Given the description of an element on the screen output the (x, y) to click on. 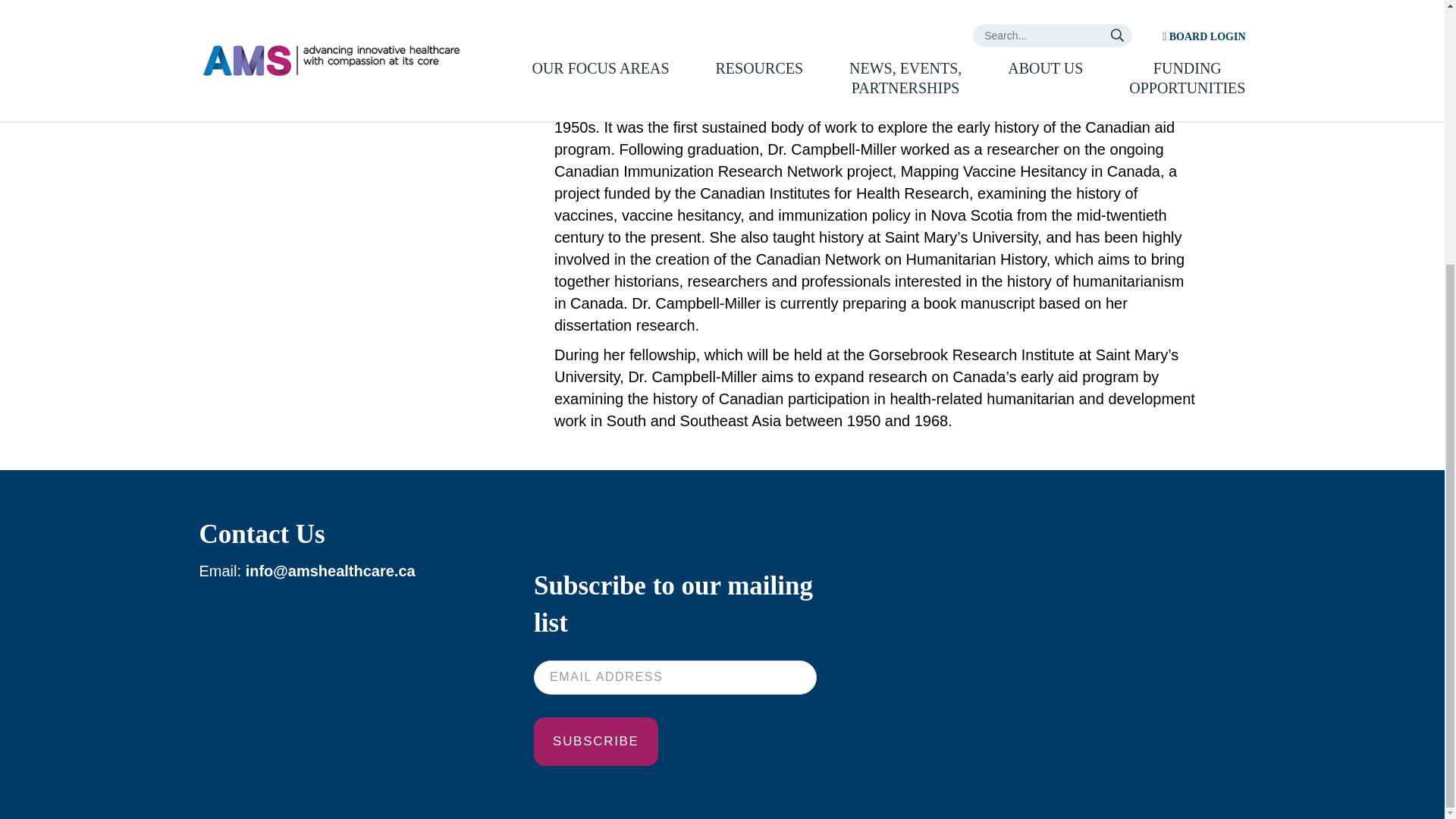
Subscribe (596, 741)
Subscribe (596, 741)
